Given the description of an element on the screen output the (x, y) to click on. 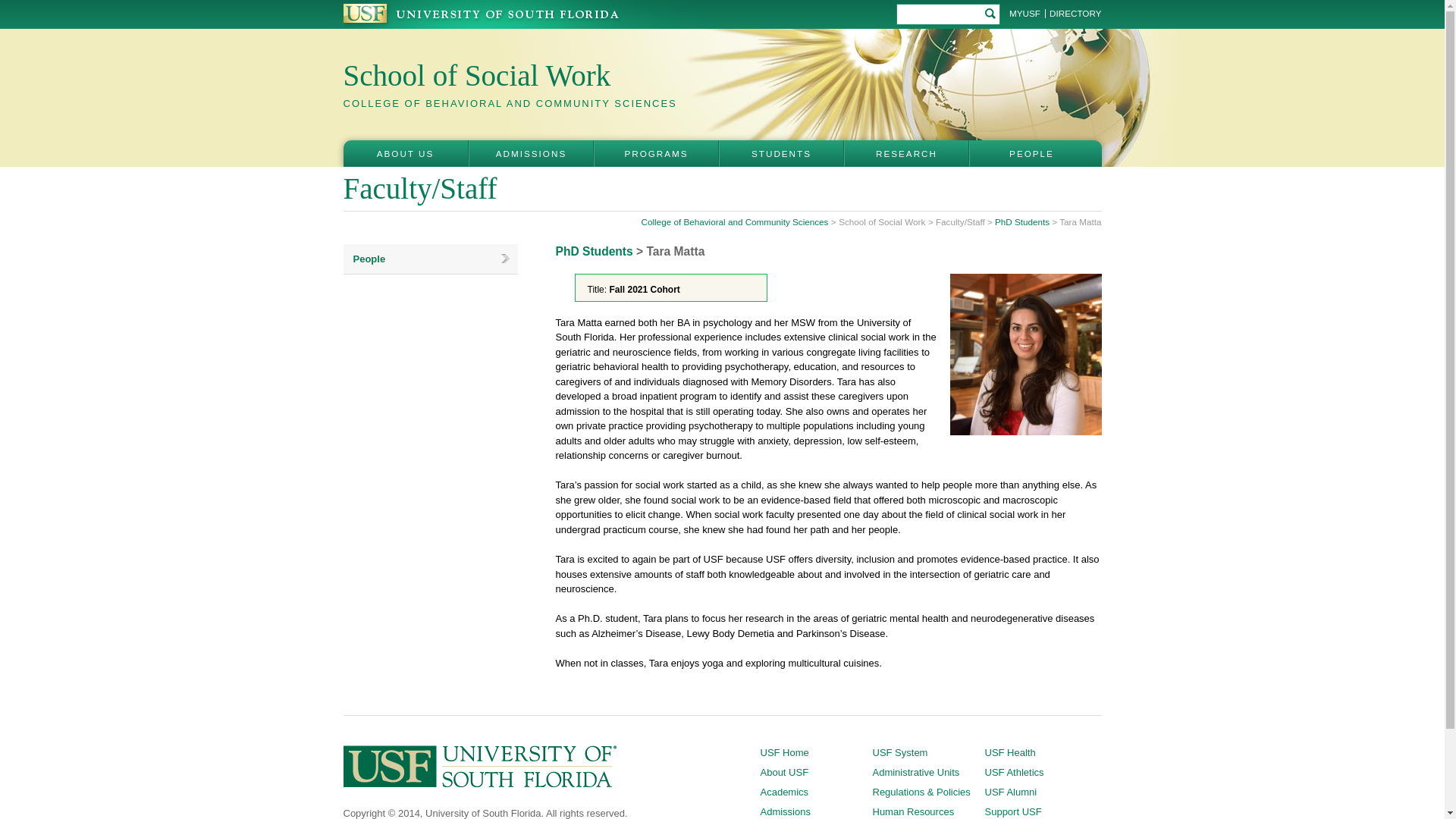
COLLEGE OF BEHAVIORAL AND COMMUNITY SCIENCES (509, 102)
PEOPLE (1031, 153)
College of Behavioral and Community Sciences (735, 221)
USF System (899, 752)
About USF (784, 772)
Administrative Units (915, 772)
ABOUT US (405, 153)
USF Alumni (1010, 791)
USF Athletics (1013, 772)
Academics (784, 791)
USF Home (784, 752)
PhD Students (592, 250)
About USF (784, 772)
USF Home (784, 752)
PhD Students (1021, 221)
